Given the description of an element on the screen output the (x, y) to click on. 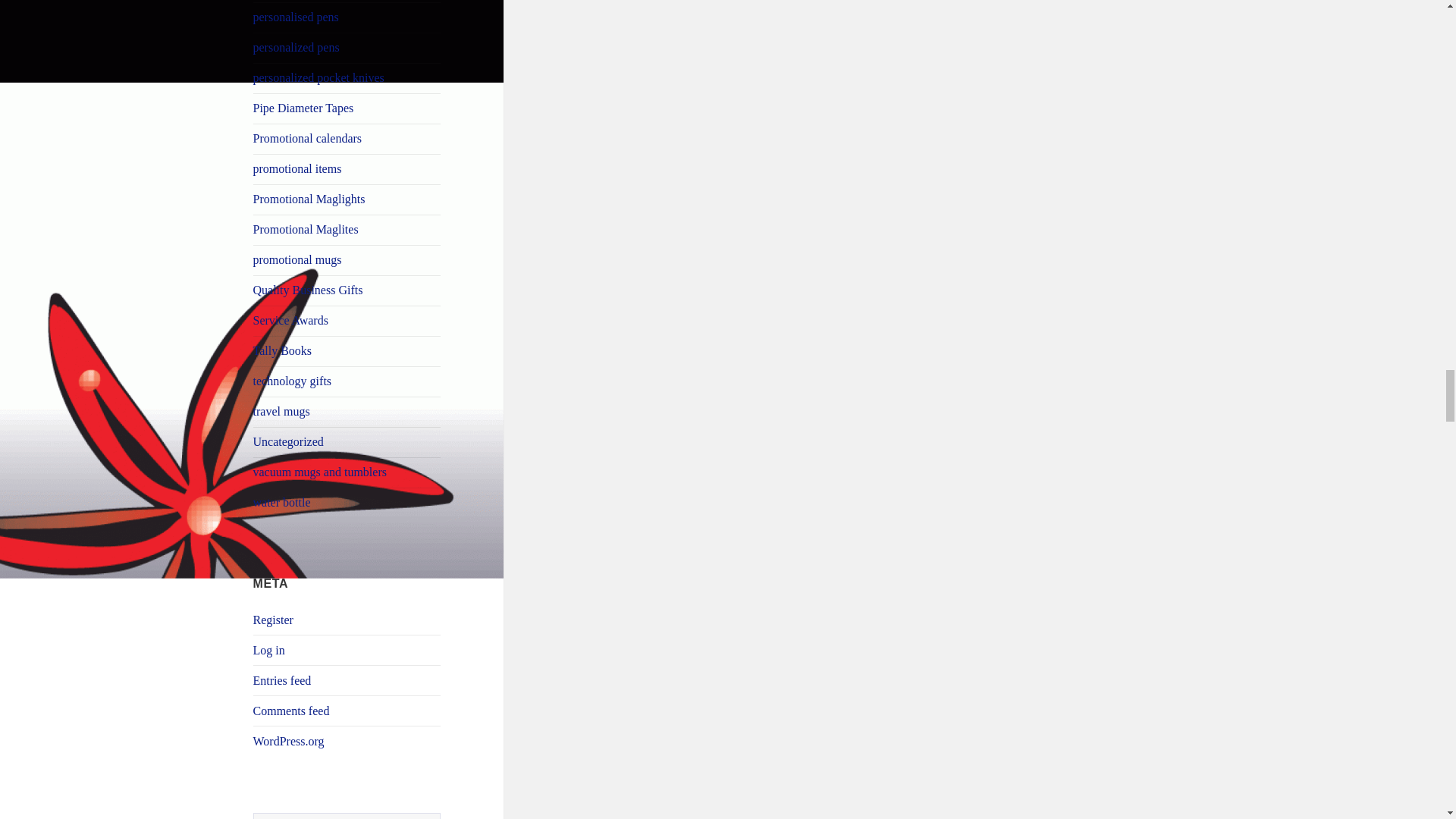
News about Pipes and Drilling (303, 107)
